Given the description of an element on the screen output the (x, y) to click on. 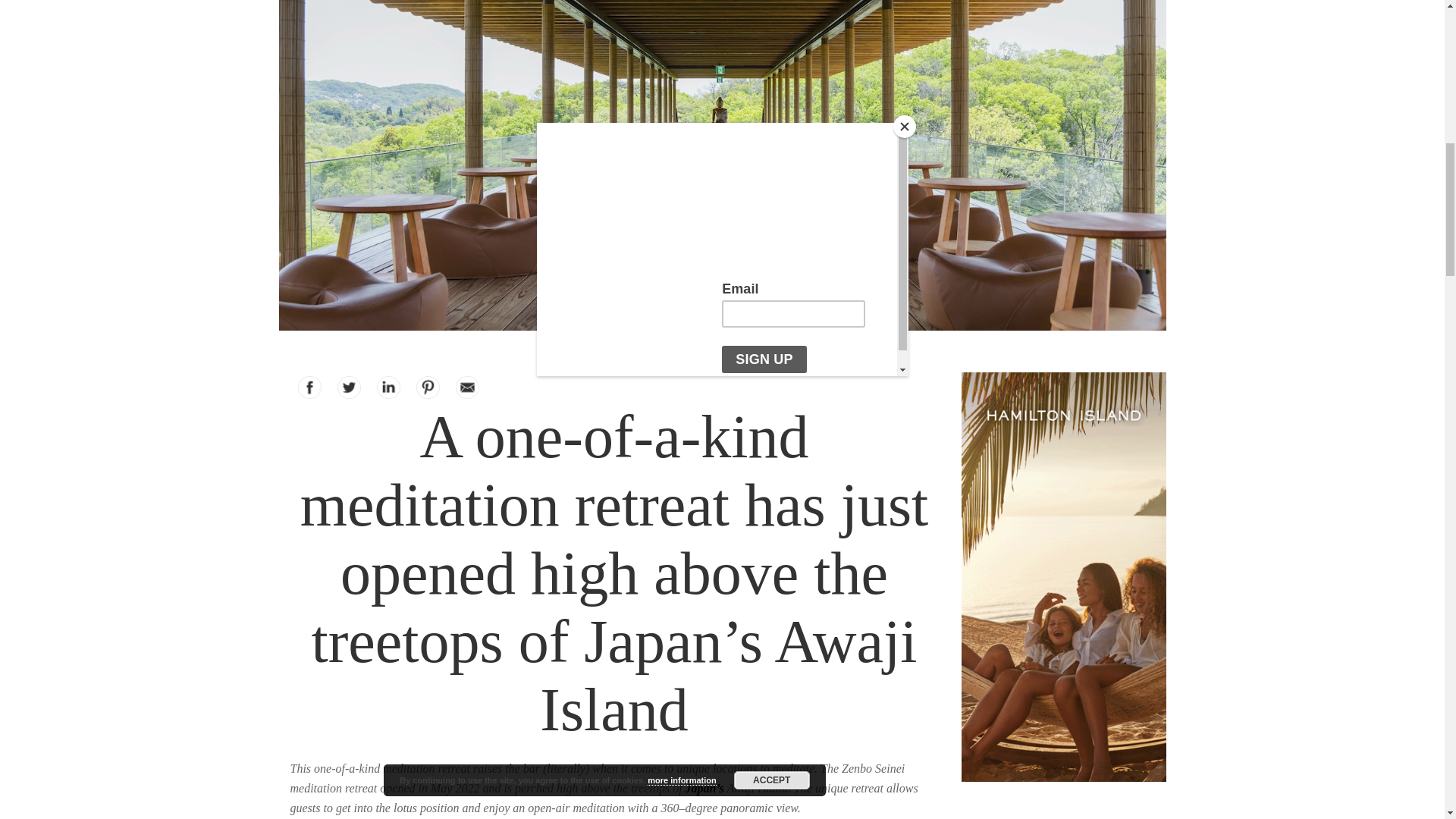
Share On Pinterest (427, 386)
Share On Twitter (349, 386)
Share On Linkedin (388, 386)
Share On Facebook (310, 386)
Contact us (467, 386)
